Given the description of an element on the screen output the (x, y) to click on. 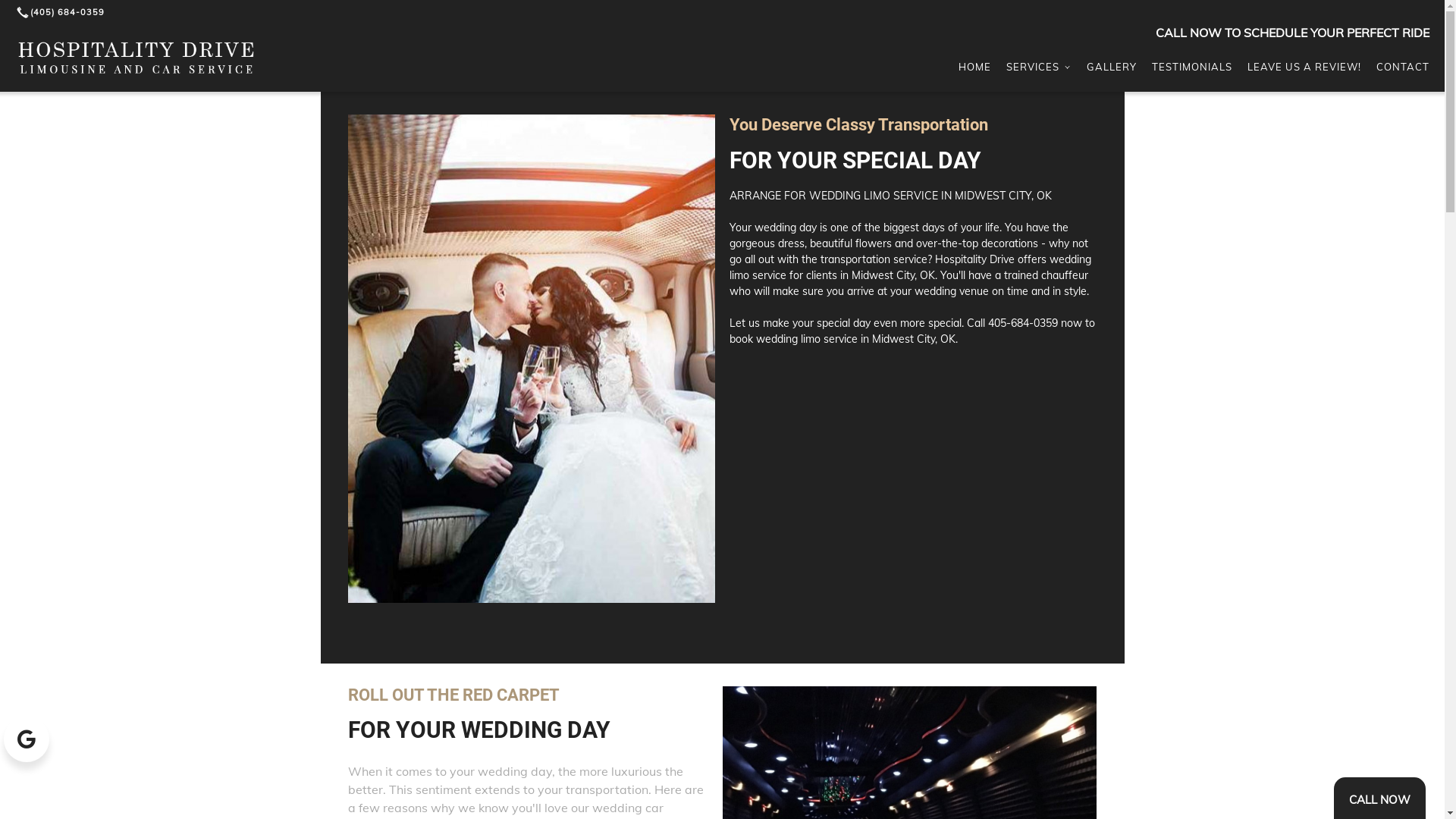
TESTIMONIALS Element type: text (1191, 66)
CALL NOW TO SCHEDULE YOUR PERFECT RIDE Element type: text (1299, 32)
ROLL OUT THE RED CARPET Element type: text (453, 694)
CONTACT Element type: text (1402, 66)
CALL NOW Element type: text (1379, 801)
LEAVE US A REVIEW! Element type: text (1304, 66)
(405) 684-0359 Element type: hover (62, 11)
HOME Element type: text (974, 66)
GALLERY Element type: text (1111, 66)
